Given the description of an element on the screen output the (x, y) to click on. 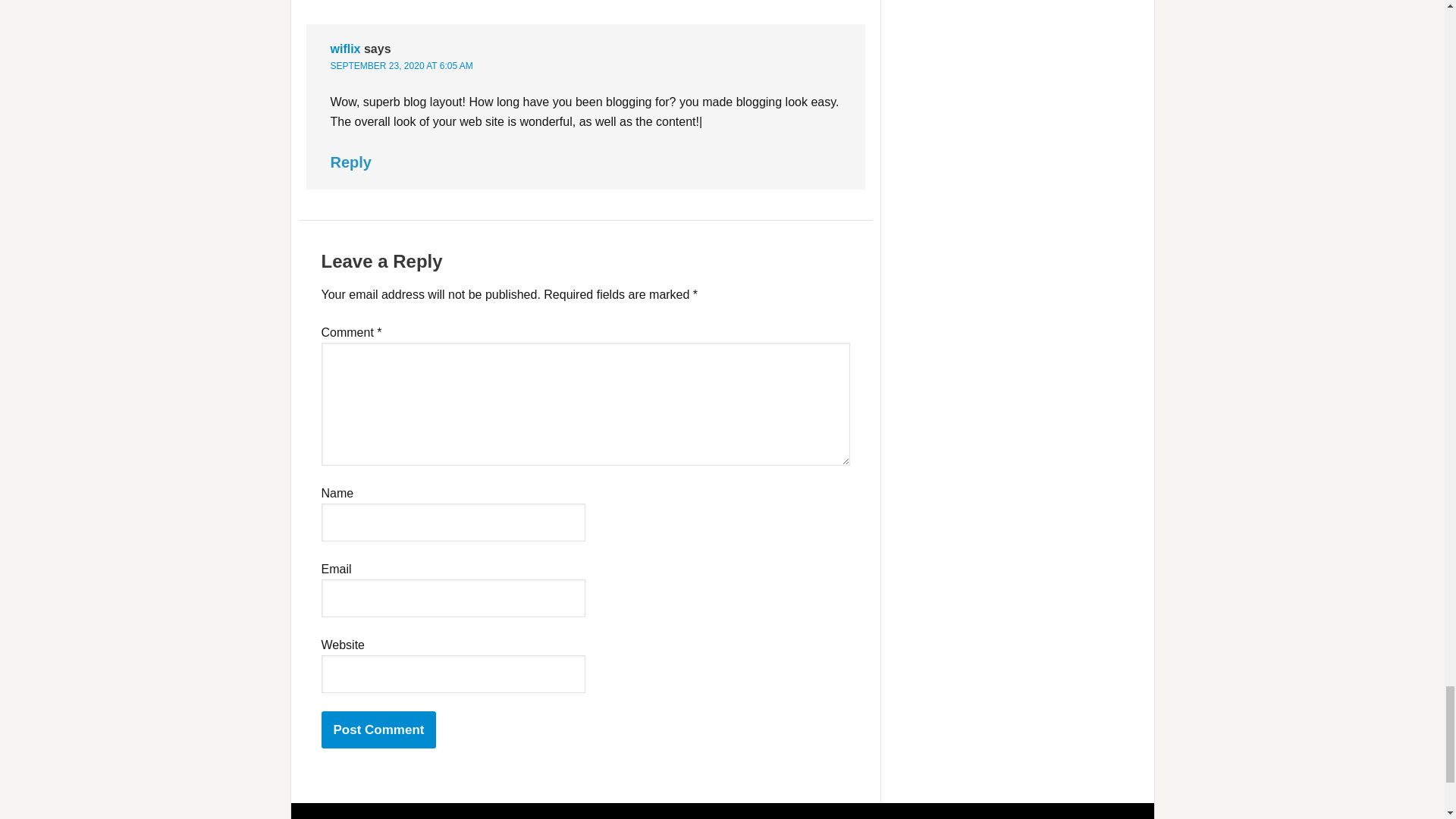
wiflix (345, 48)
Post Comment (378, 729)
SEPTEMBER 23, 2020 AT 6:05 AM (401, 65)
